Given the description of an element on the screen output the (x, y) to click on. 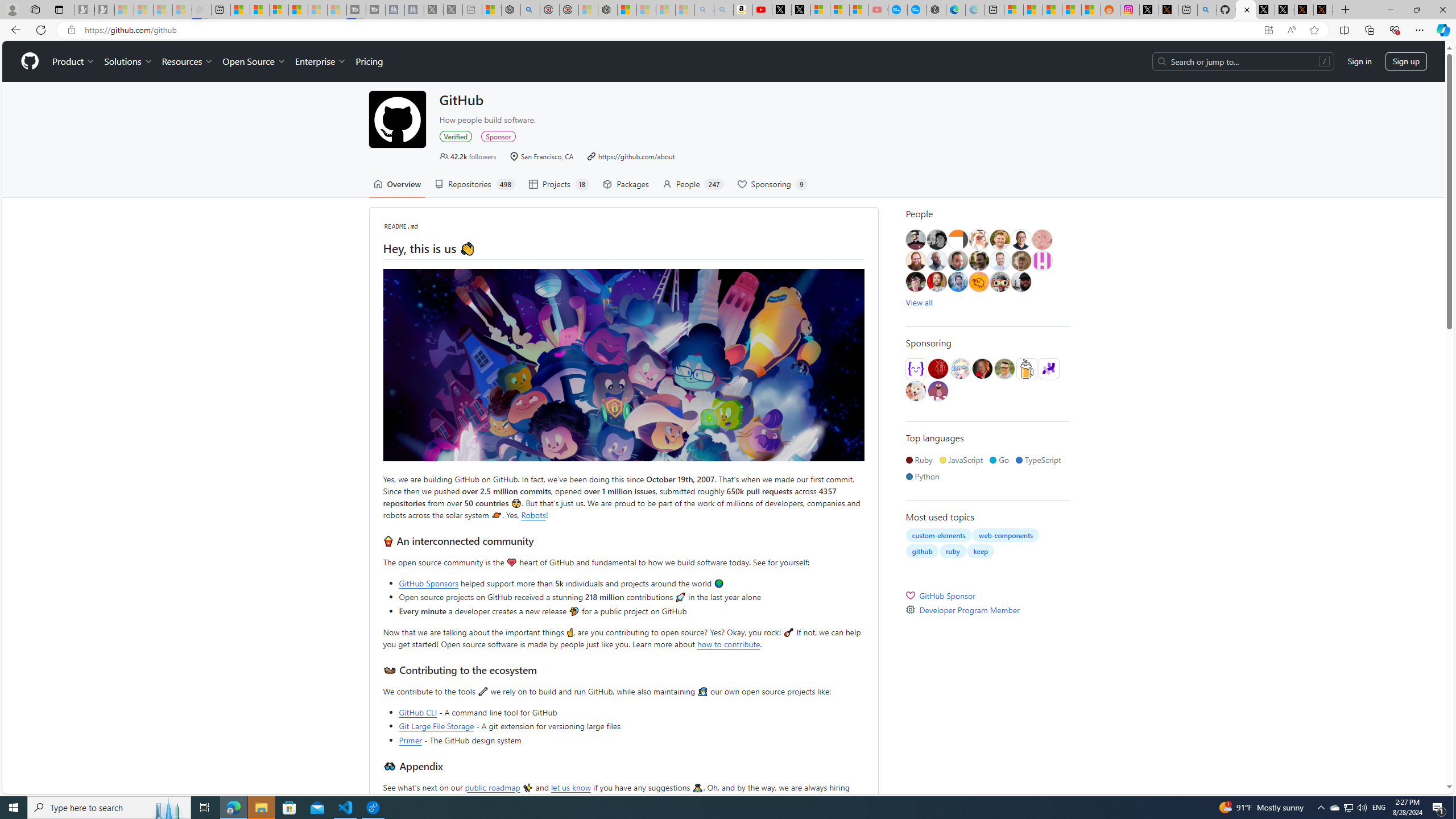
Sponsor (497, 136)
https://github.com/about (636, 156)
@kivikakk (959, 368)
Enterprise (319, 60)
@kjg (1000, 239)
@dcreager (915, 281)
Newsletter Sign Up - Sleeping (104, 9)
GitHub CLI - A command line tool for GitHub (631, 711)
Solutions (128, 60)
ruby (952, 550)
